Given the description of an element on the screen output the (x, y) to click on. 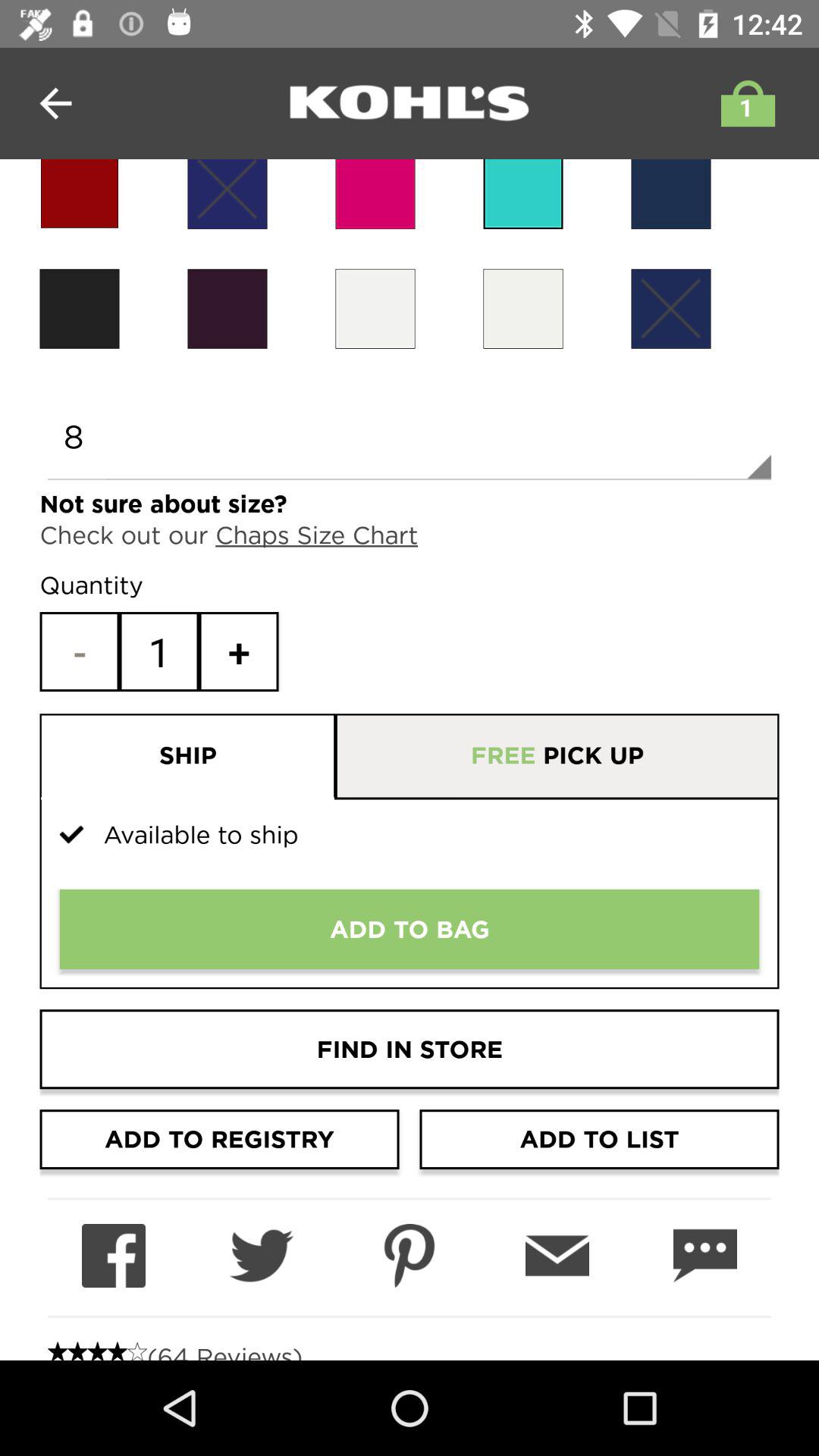
color selection (227, 308)
